Given the description of an element on the screen output the (x, y) to click on. 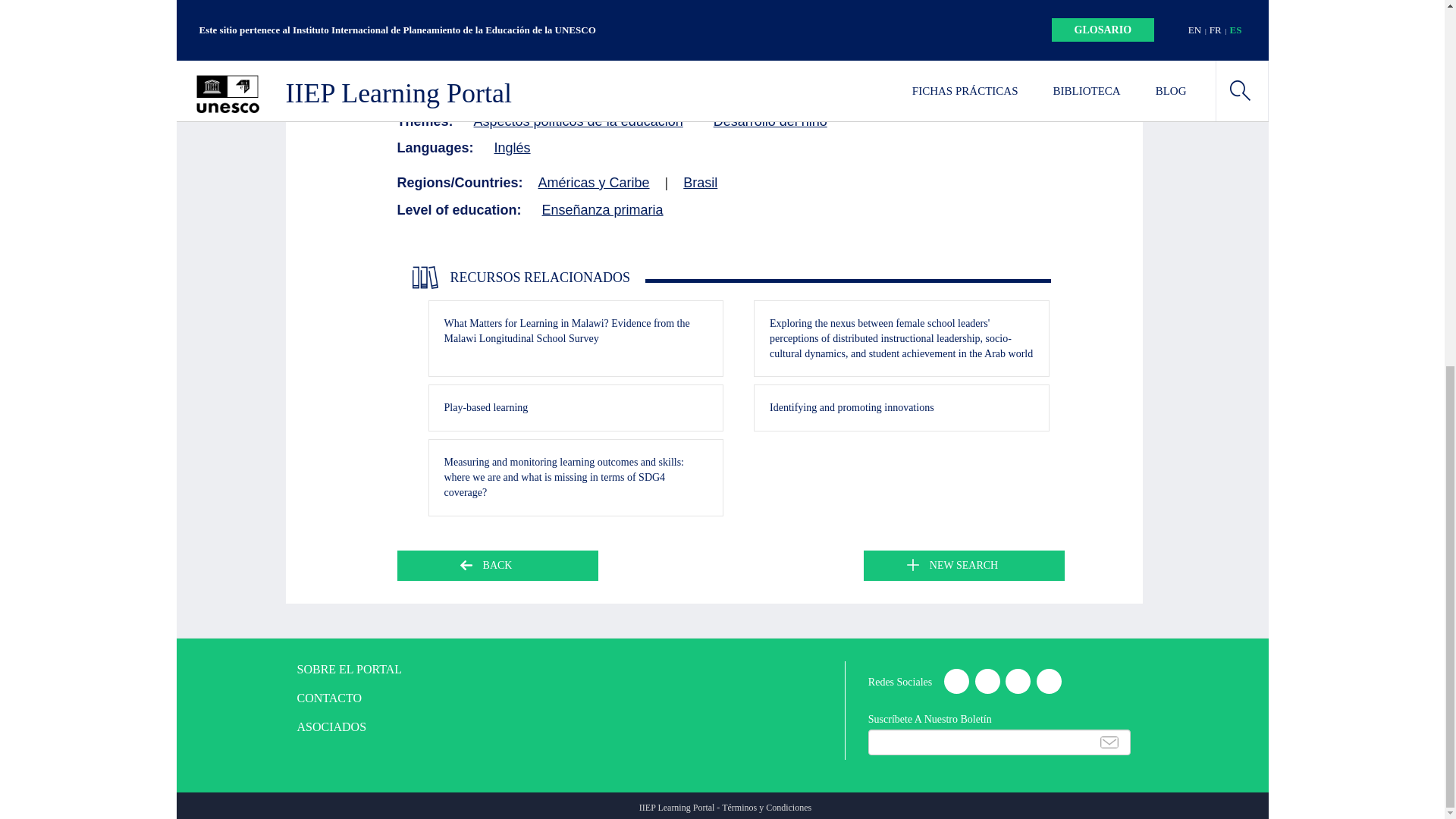
SOBRE EL PORTAL (350, 669)
BACK (497, 565)
ASOCIADOS (350, 727)
Play-based learning (486, 407)
Brasil (699, 183)
NEW SEARCH (963, 565)
Identifying and promoting innovations (852, 407)
CONTACTO (350, 698)
